Given the description of an element on the screen output the (x, y) to click on. 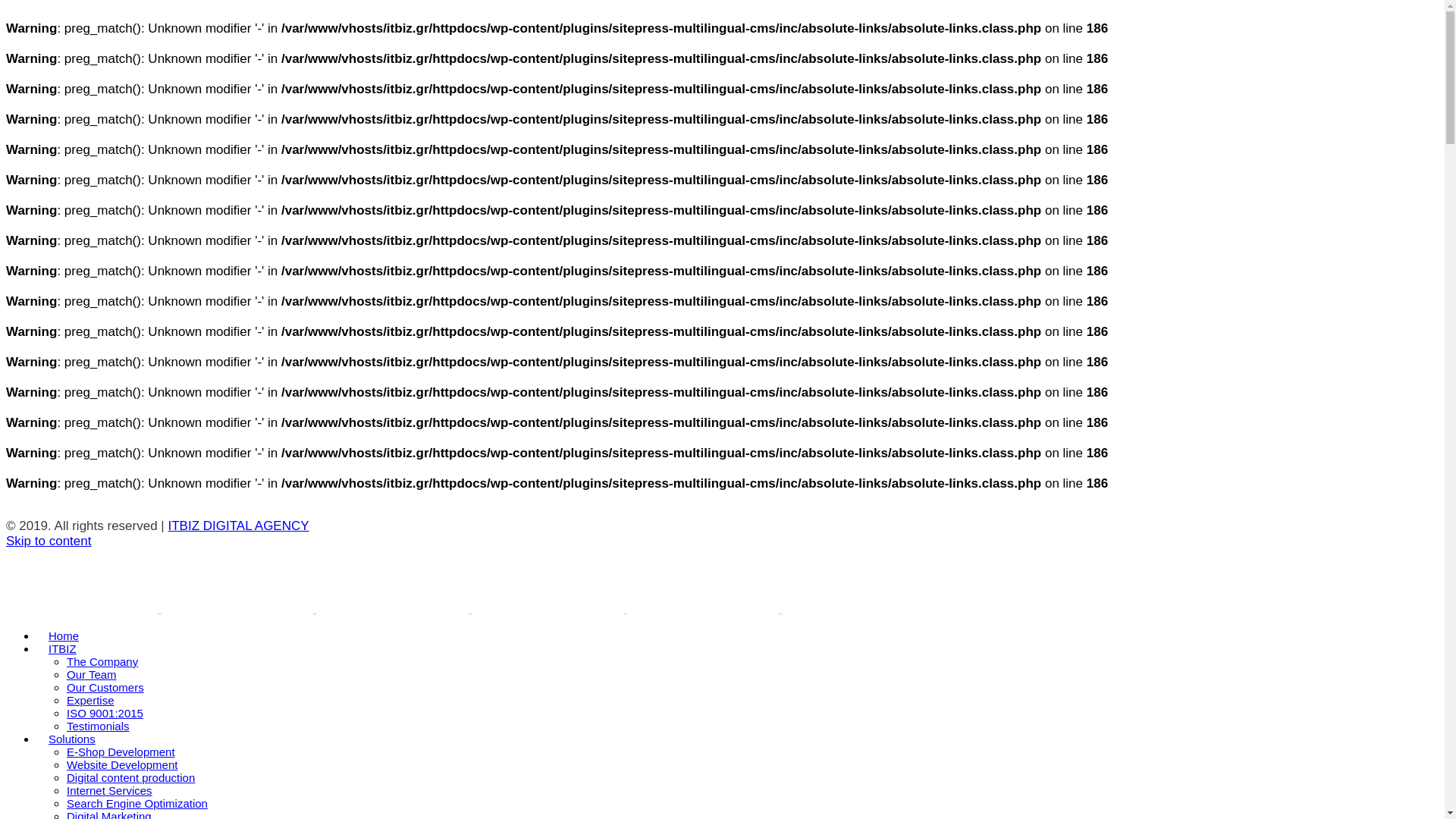
Our Team (91, 674)
E-Shop Development (120, 751)
Digital Marketing (108, 814)
ITBIZ (62, 648)
Website Development (121, 764)
Search Engine Optimization (137, 802)
Our Customers (105, 686)
Solutions (71, 738)
ISO 9001:2015 (104, 712)
Testimonials (97, 725)
Skip to content (47, 540)
Expertise (90, 699)
ITBIZ DIGITAL AGENCY (238, 525)
Digital content production (130, 777)
The Company (102, 661)
